Given the description of an element on the screen output the (x, y) to click on. 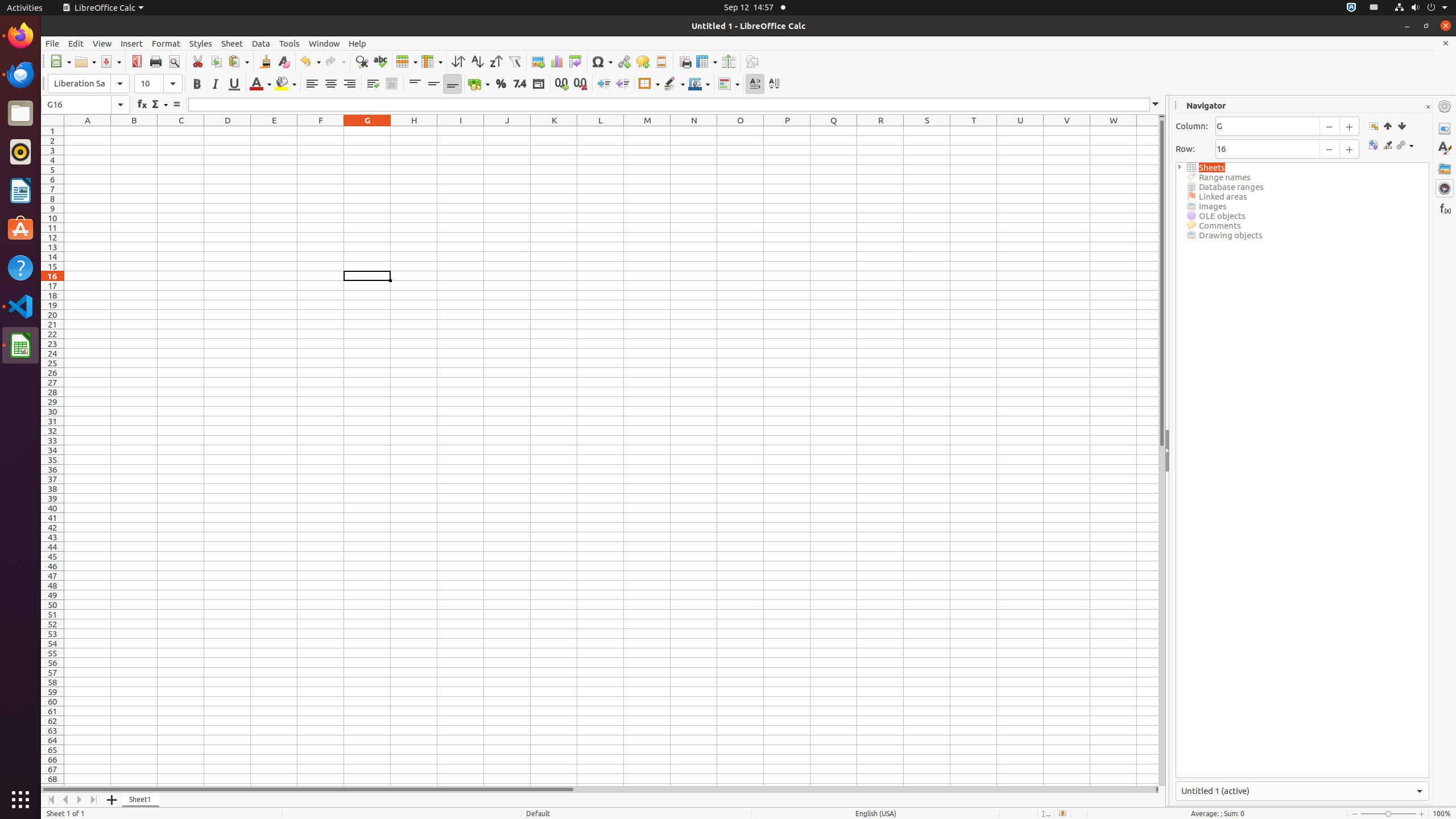
Vertical scroll bar Element type: scroll-bar (1161, 451)
Tools Element type: menu (289, 43)
New Element type: push-button (59, 61)
C1 Element type: table-cell (180, 130)
M1 Element type: table-cell (646, 130)
